Given the description of an element on the screen output the (x, y) to click on. 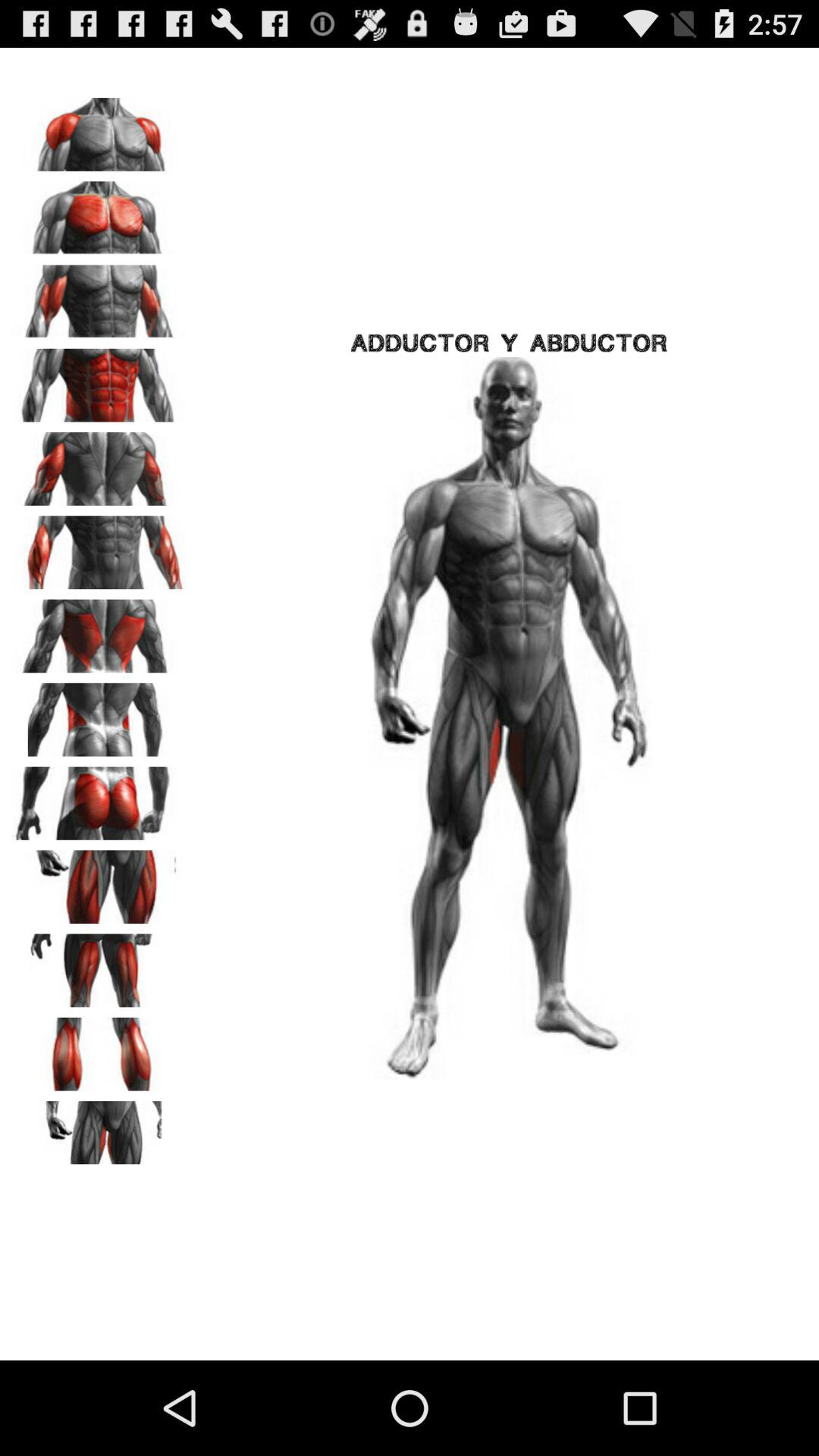
turn off the icon next to the adductor y abductor item (99, 380)
